Given the description of an element on the screen output the (x, y) to click on. 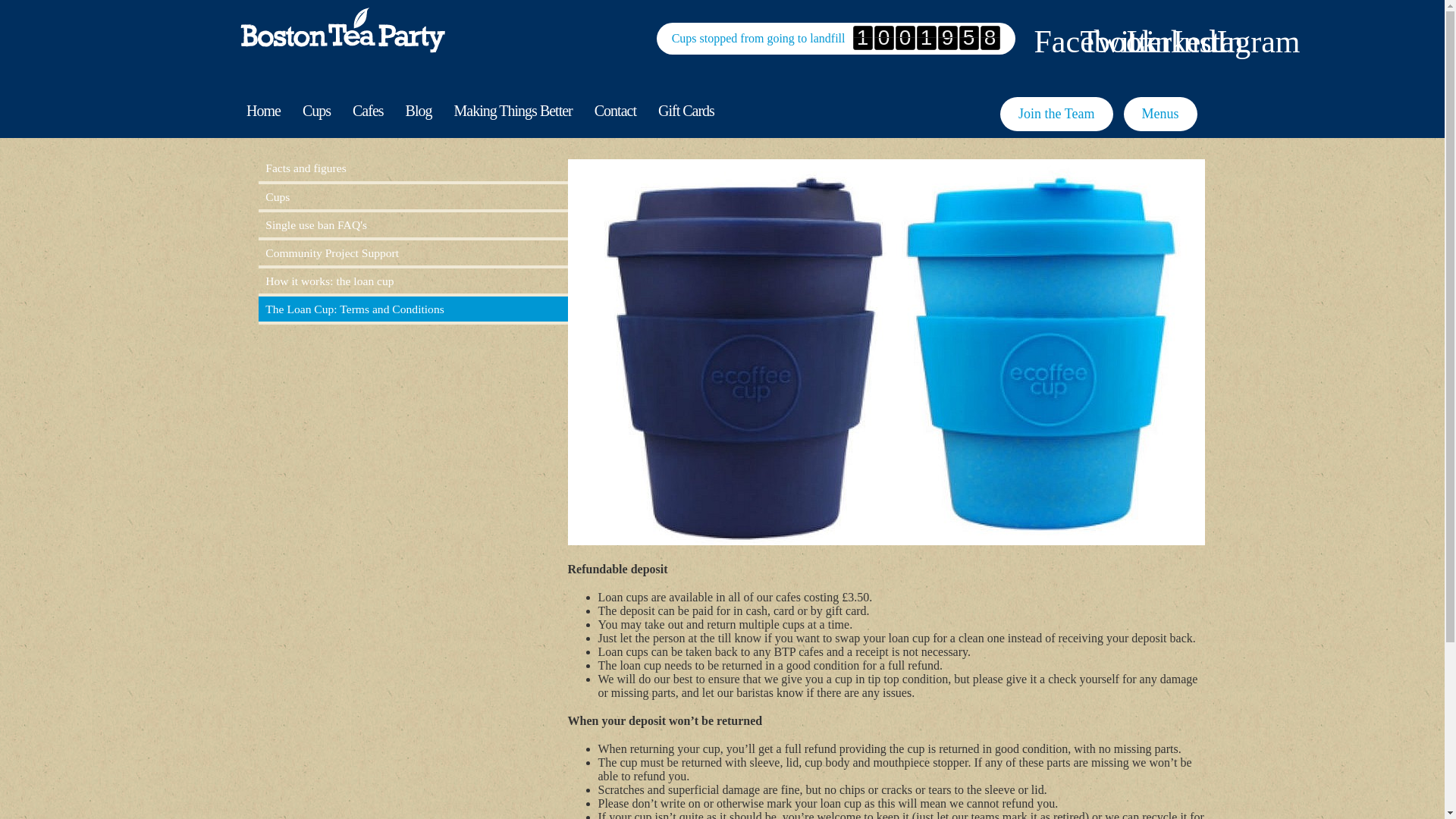
Single use ban FAQ's (412, 224)
Cafes (368, 111)
Contact (615, 111)
Gift Cards (685, 111)
Menus (1160, 114)
Making Things Better (512, 111)
Blog (418, 111)
Home (262, 111)
Join the Team (1056, 114)
Community Project Support (412, 252)
Cups (315, 111)
Facts and figures (412, 168)
How it works: the loan cup (412, 280)
Cups (412, 196)
The Loan Cup: Terms and Conditions (412, 308)
